Given the description of an element on the screen output the (x, y) to click on. 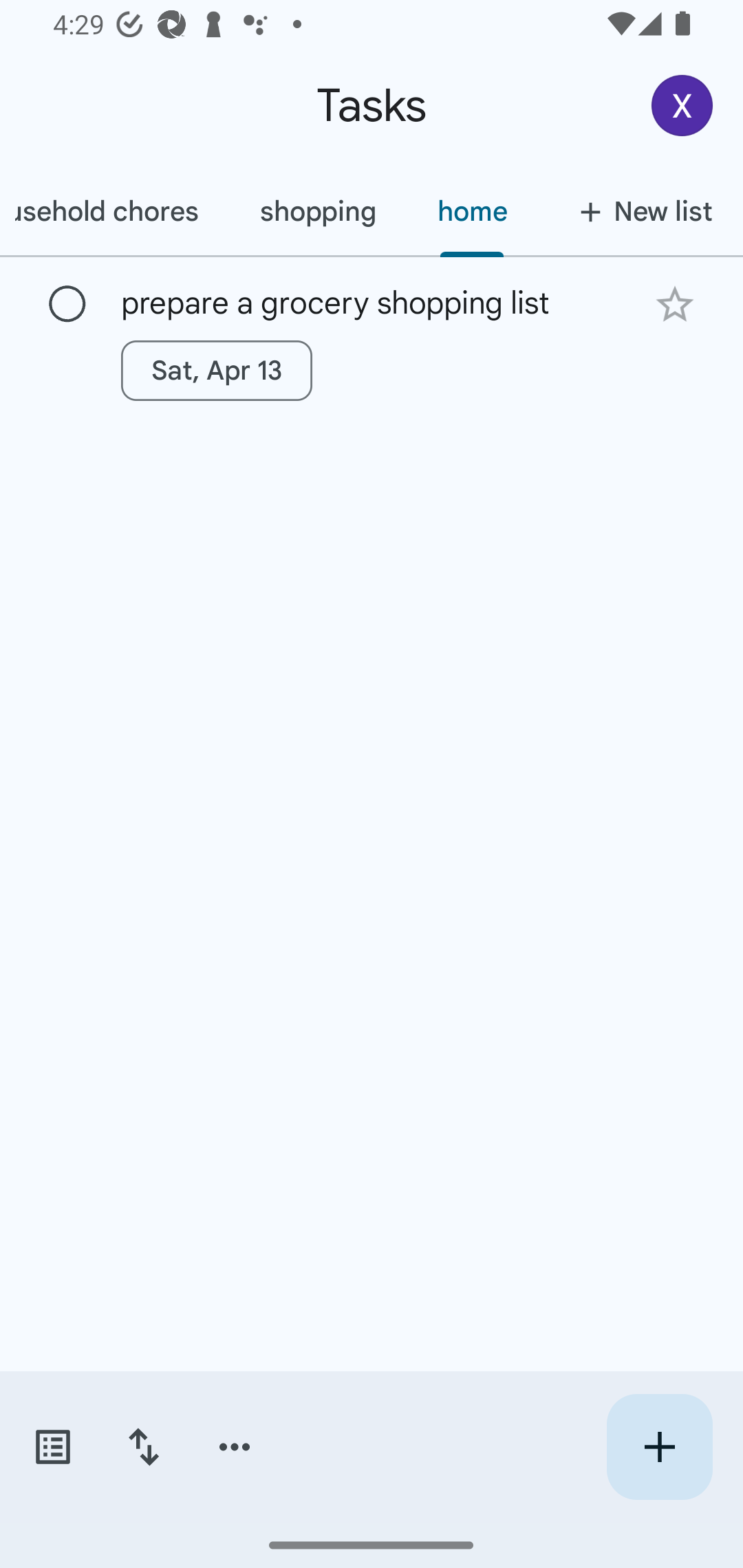
household chores (114, 211)
shopping (317, 211)
New list (640, 211)
Add star (674, 303)
Mark as complete (67, 304)
Sat, Apr 13 (216, 369)
Switch task lists (52, 1447)
Create new task (659, 1446)
Change sort order (143, 1446)
More options (234, 1446)
